Given the description of an element on the screen output the (x, y) to click on. 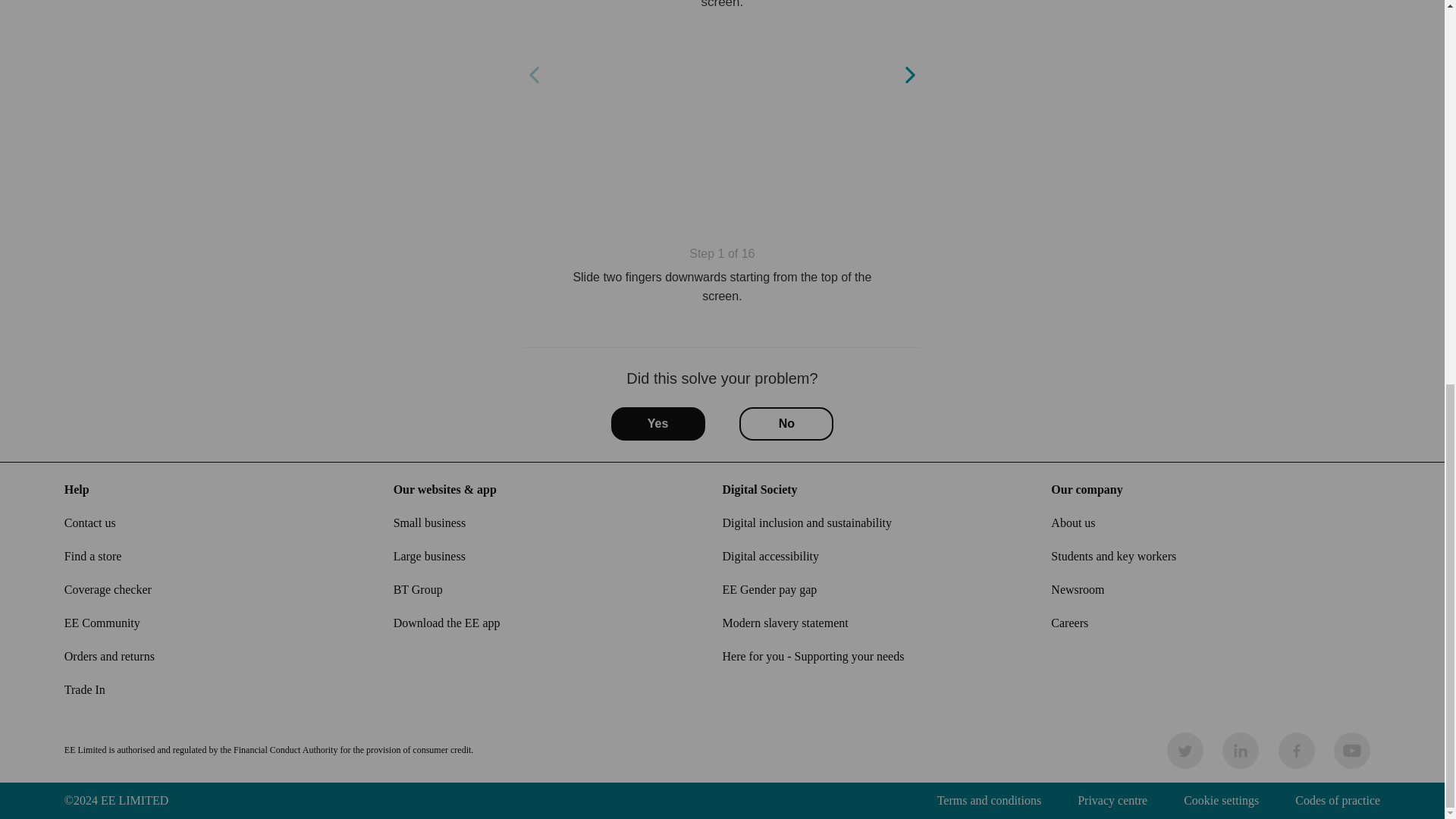
No (786, 423)
Yes (657, 423)
